Given the description of an element on the screen output the (x, y) to click on. 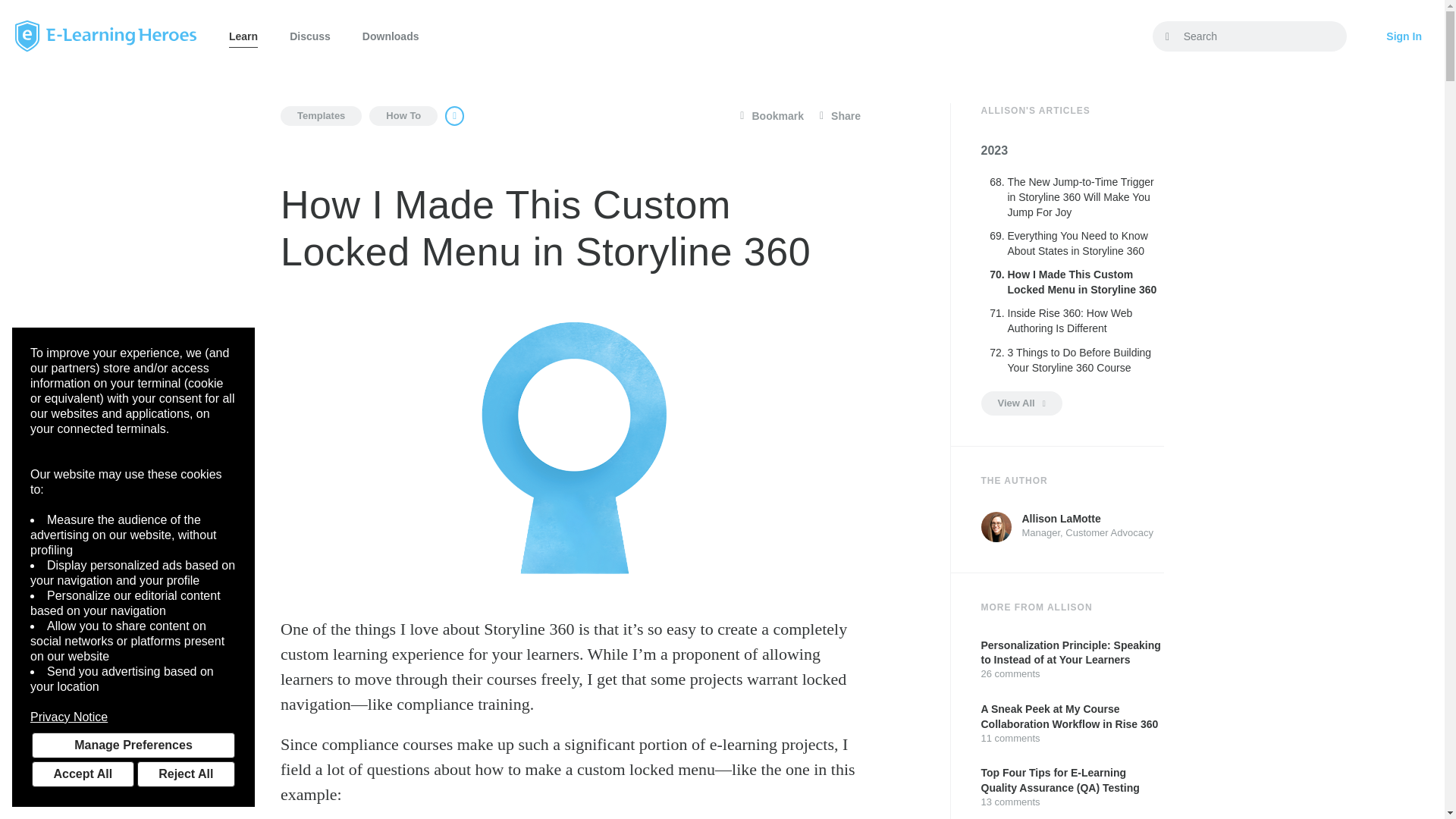
Privacy Notice (132, 717)
Accept All (82, 774)
Allison LaMotte (996, 526)
E-Learning Heroes (105, 36)
Reject All (185, 774)
Manage Preferences (133, 745)
Sign In (1404, 36)
